Given the description of an element on the screen output the (x, y) to click on. 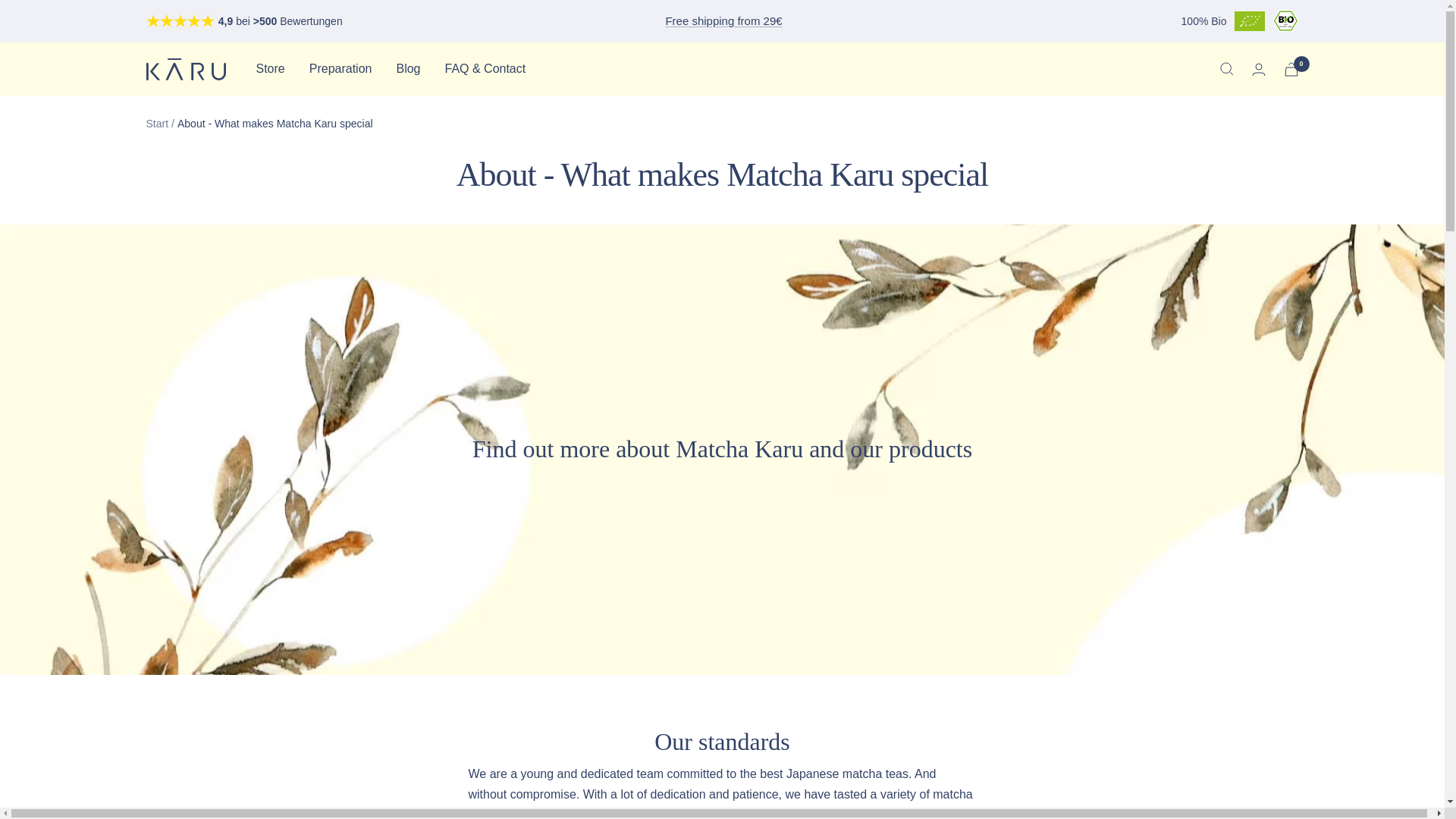
0 (1290, 69)
Store (270, 68)
Preparation (340, 68)
Blog (408, 68)
Start (156, 123)
